Given the description of an element on the screen output the (x, y) to click on. 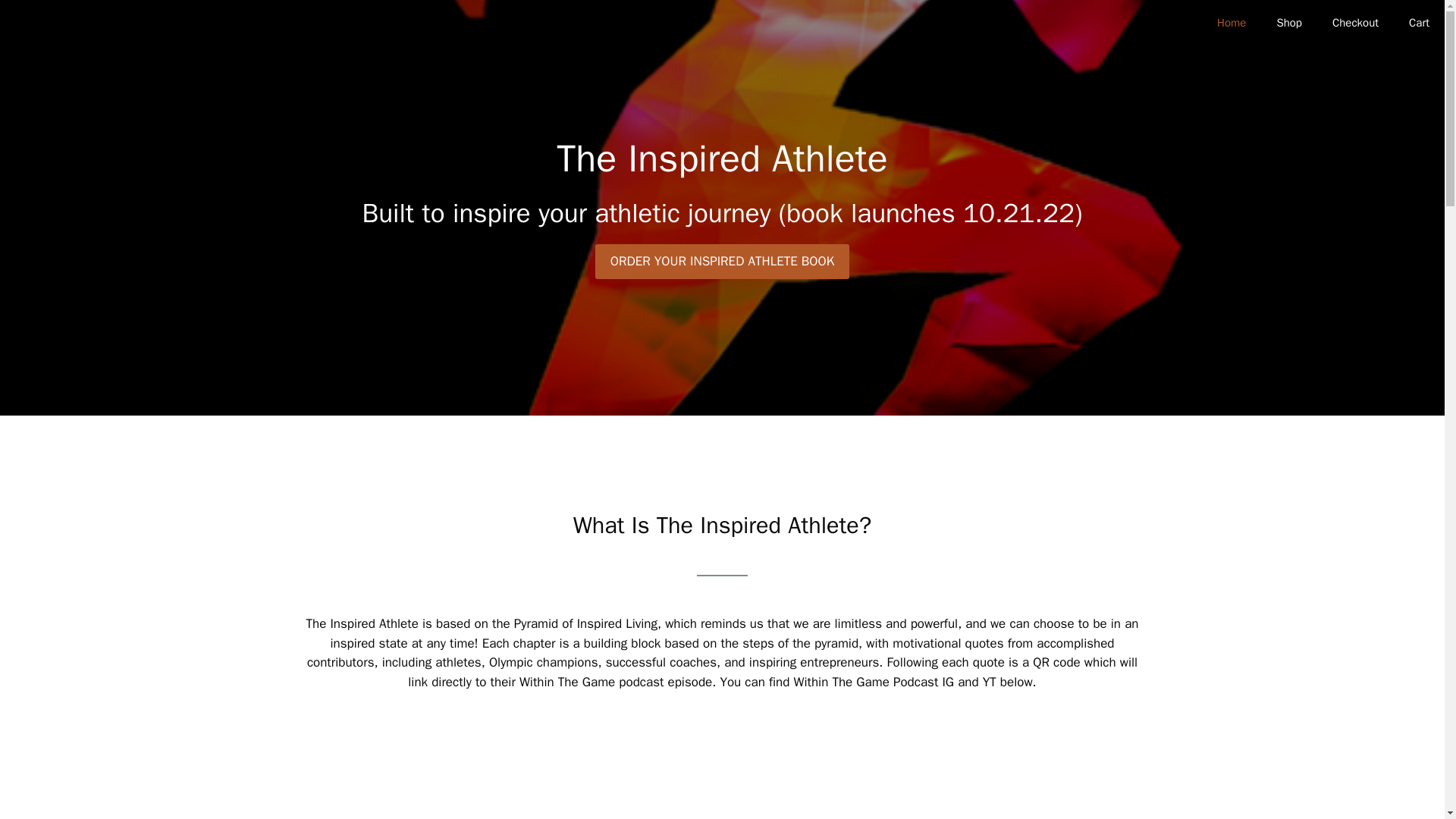
Shop (1288, 22)
Checkout (1355, 22)
Home (1231, 22)
ORDER YOUR INSPIRED ATHLETE BOOK (722, 261)
